Given the description of an element on the screen output the (x, y) to click on. 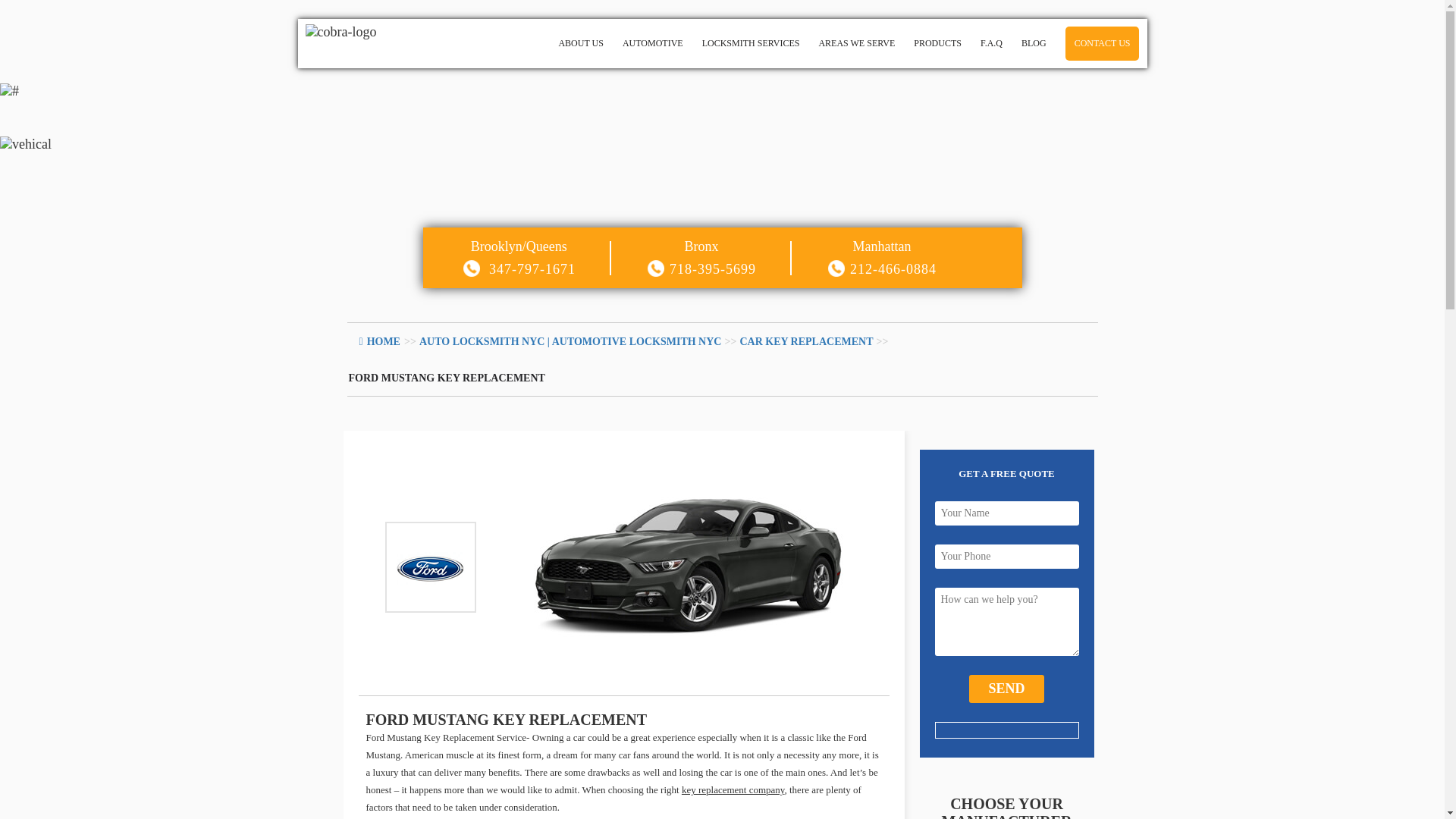
AREAS WE SERVE (856, 43)
ABOUT US (514, 44)
LOCKSMITH SERVICES (750, 43)
Send (1006, 688)
AUTOMOTIVE (568, 43)
Car Key Replacement (805, 340)
Ford Mustang Key Replacement (446, 378)
